Given the description of an element on the screen output the (x, y) to click on. 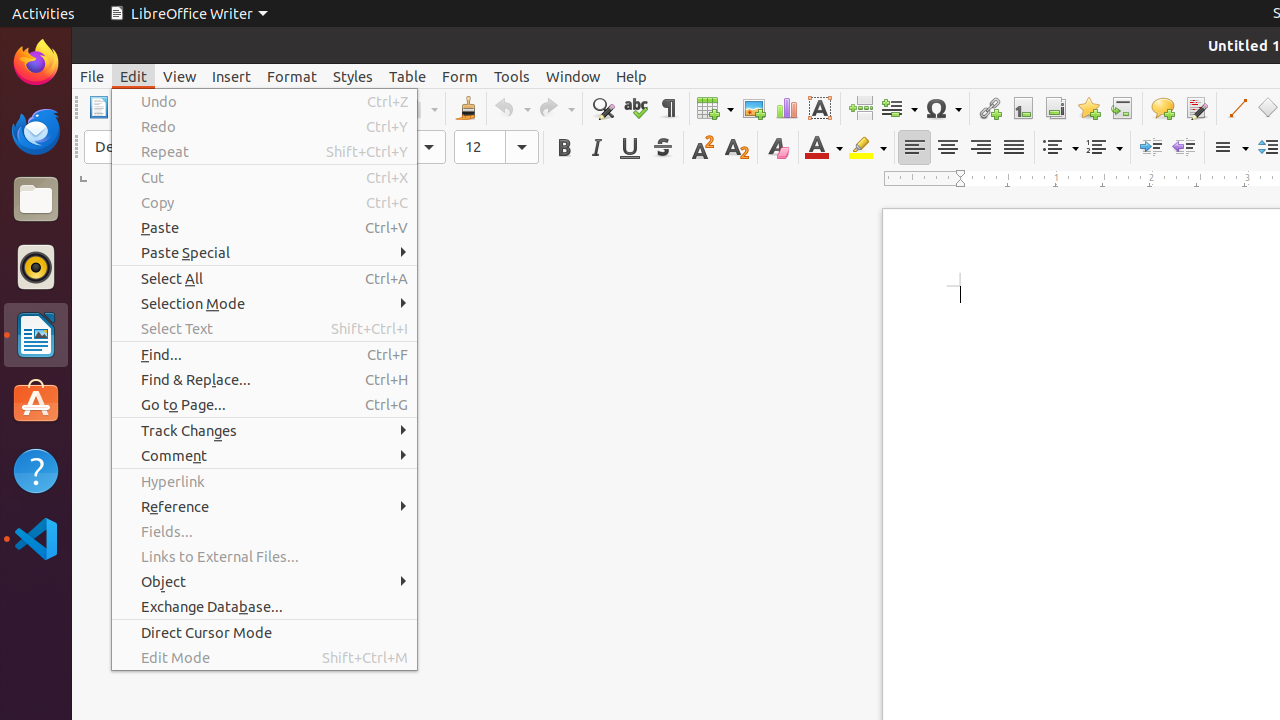
Text Box Element type: push-button (819, 108)
Comment Element type: push-button (1162, 108)
Exchange Database... Element type: menu-item (264, 606)
